Given the description of an element on the screen output the (x, y) to click on. 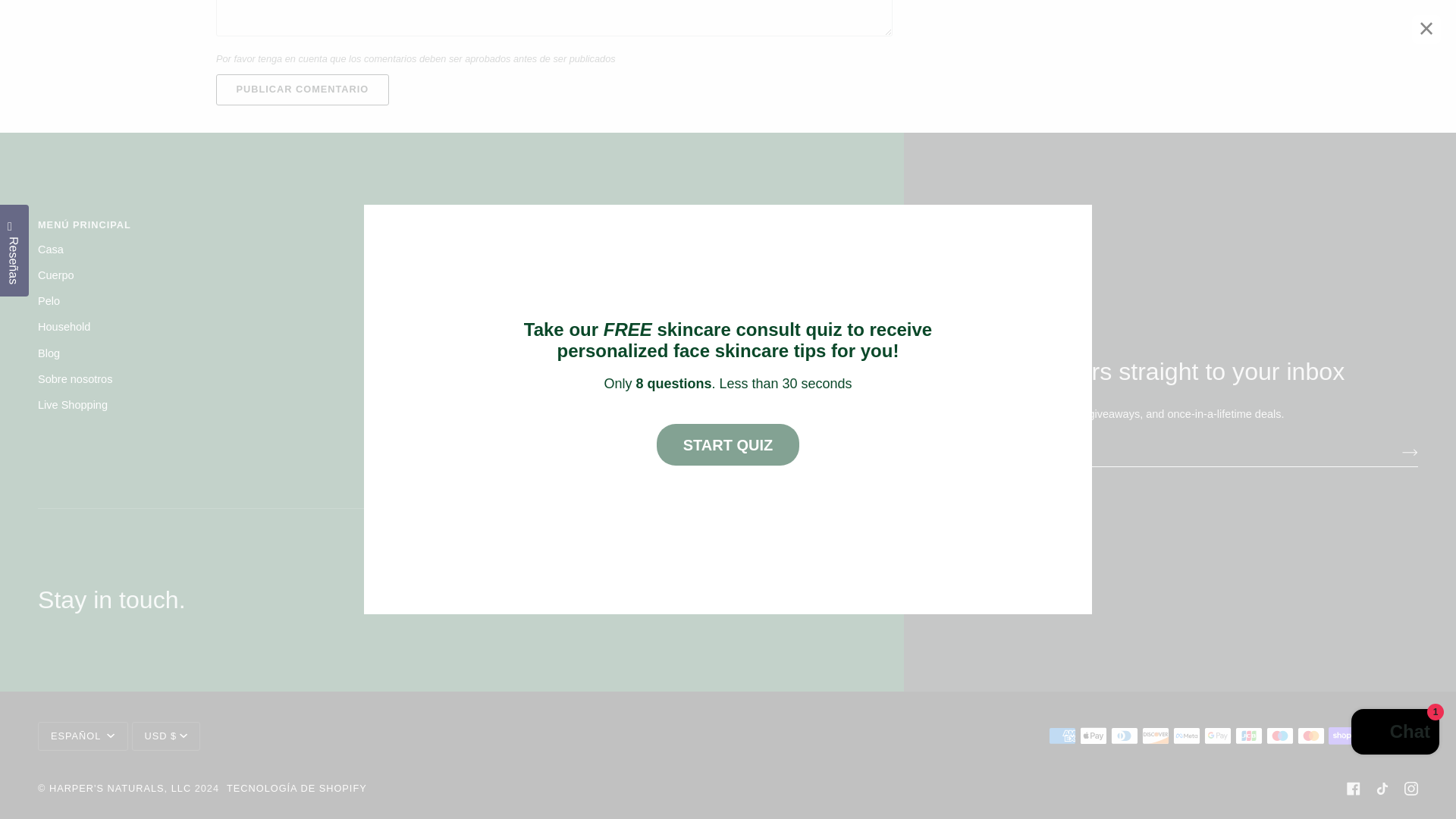
DISCOVER (1155, 735)
VISA (1404, 735)
DINERS CLUB (1124, 735)
MAESTRO (1280, 735)
JCB (1248, 735)
AMERICAN EXPRESS (1061, 735)
UNION PAY (1373, 735)
MASTERCARD (1310, 735)
META PAY (1186, 735)
APPLE PAY (1093, 735)
GOOGLE PAY (1217, 735)
SHOP PAY (1341, 735)
